Given the description of an element on the screen output the (x, y) to click on. 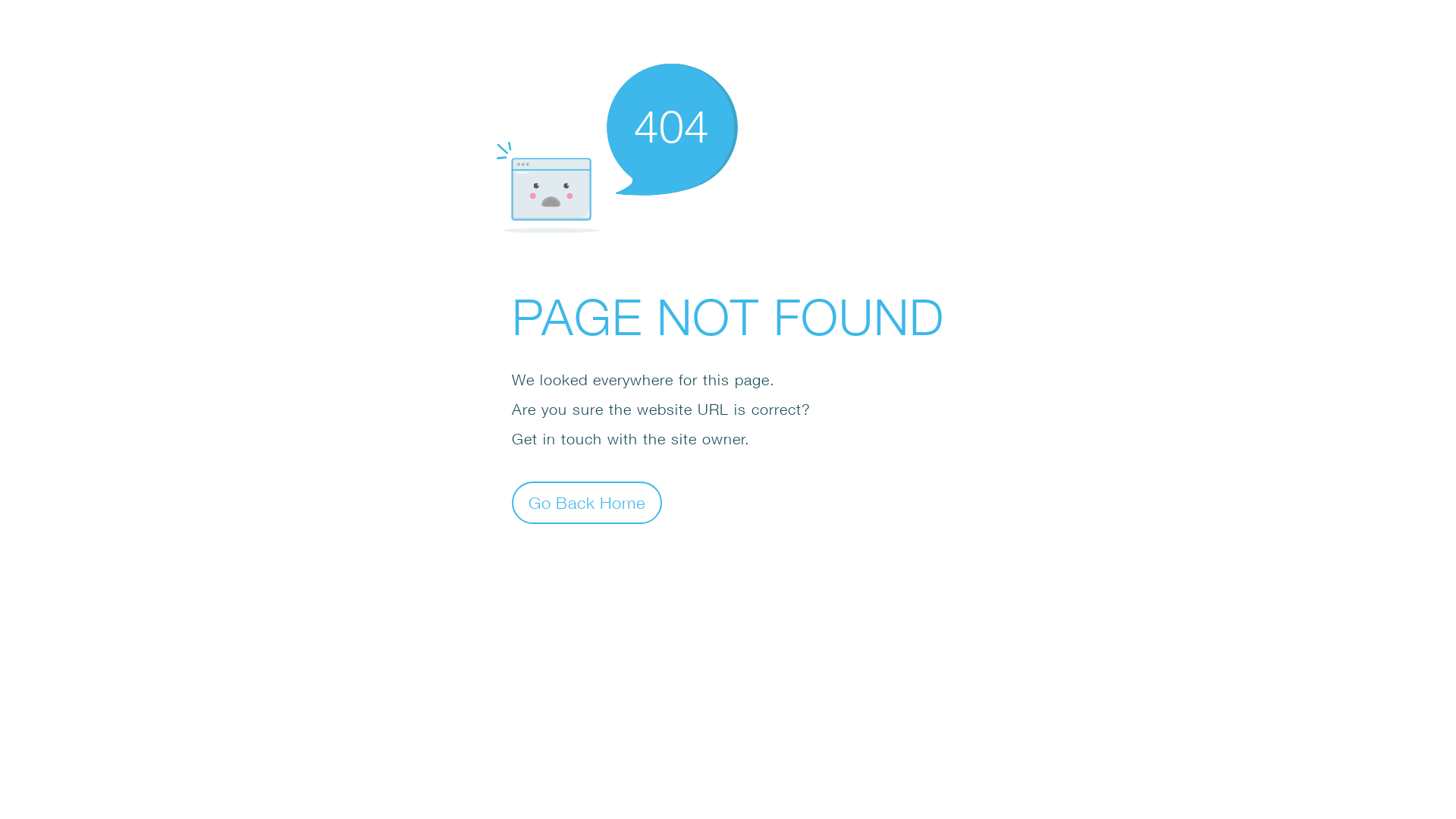
Go Back Home Element type: text (586, 502)
